Given the description of an element on the screen output the (x, y) to click on. 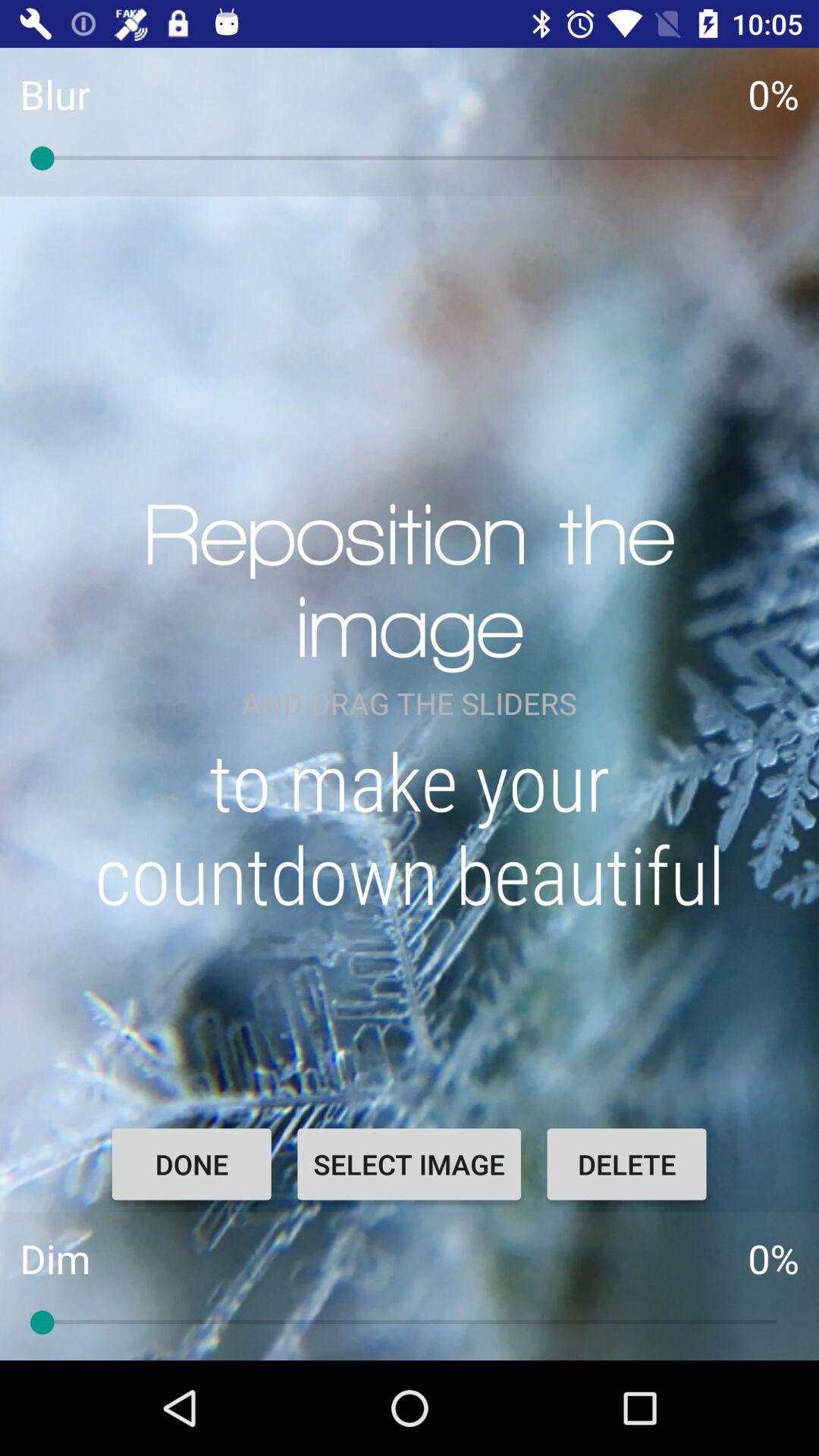
open item to the right of done item (408, 1164)
